Given the description of an element on the screen output the (x, y) to click on. 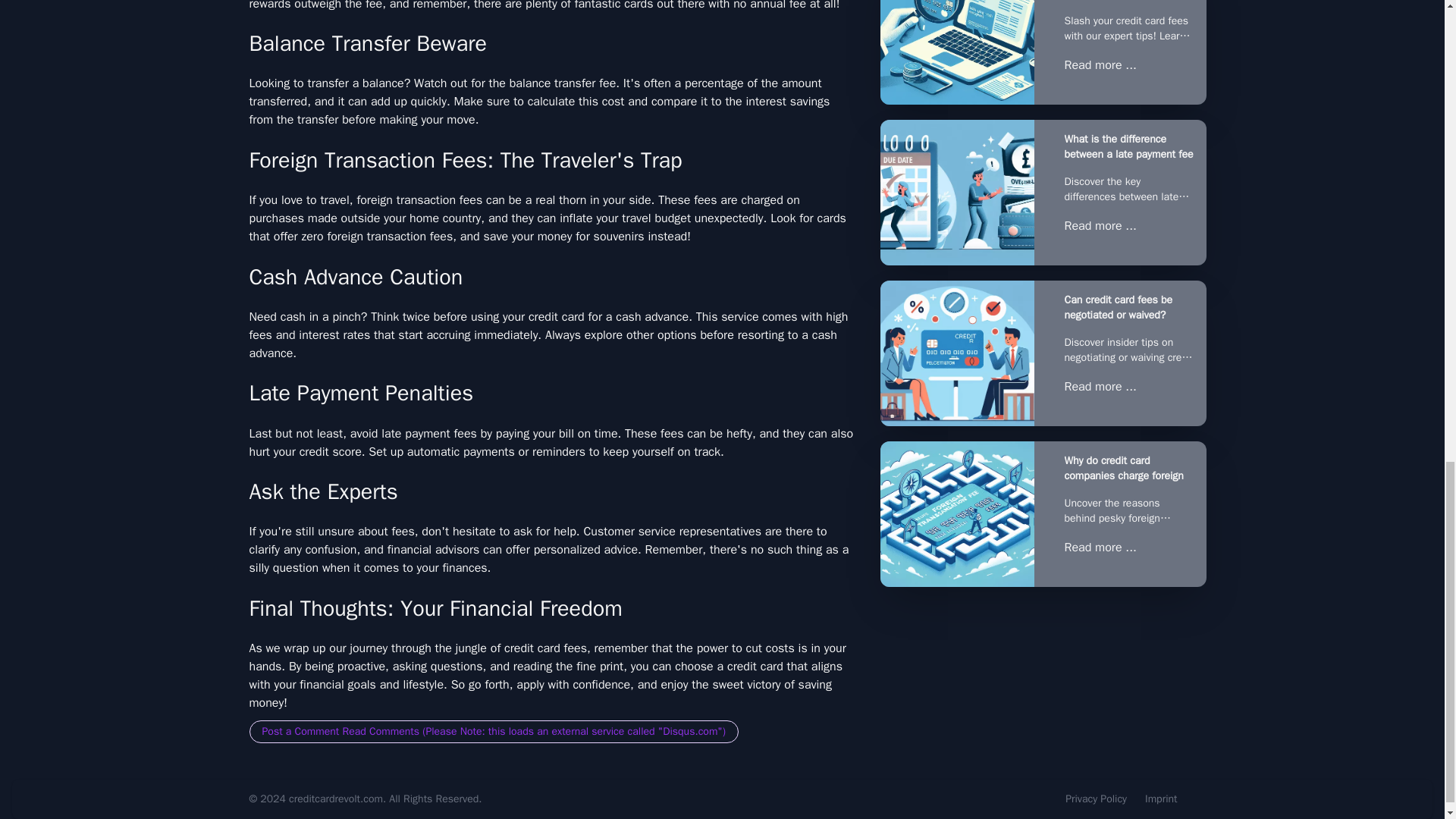
Can credit card fees be negotiated or waived? (956, 352)
Imprint (1160, 798)
Can credit card fees be negotiated or waived? (1128, 307)
How can I avoid paying high credit card fees? (956, 52)
